Given the description of an element on the screen output the (x, y) to click on. 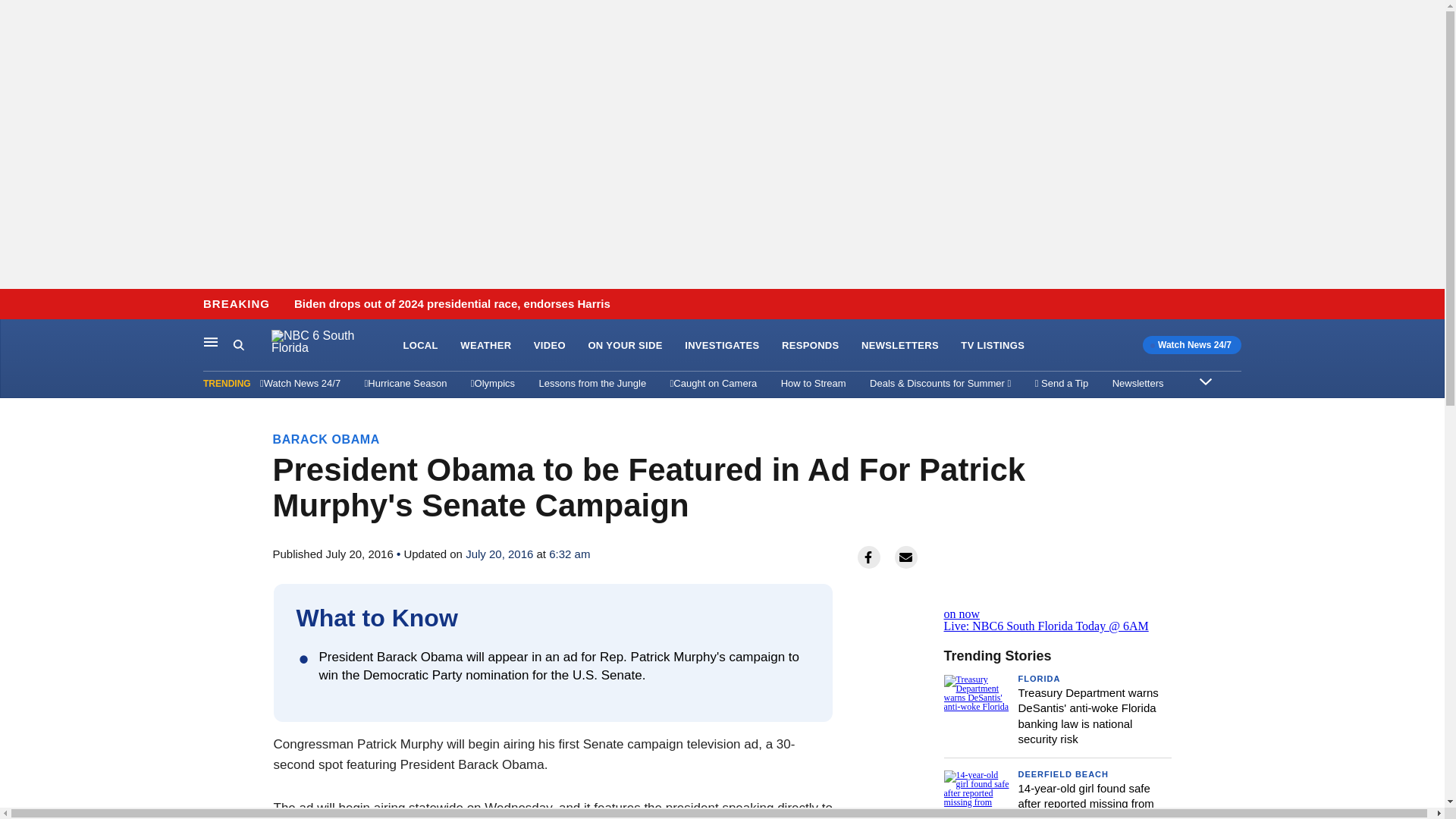
LOCAL (420, 345)
Skip to content (16, 304)
BARACK OBAMA (326, 439)
WEATHER (485, 345)
DEERFIELD BEACH (1062, 773)
Search (252, 345)
INVESTIGATES (721, 345)
Biden drops out of 2024 presidential race, endorses Harris (452, 304)
Search (238, 344)
Expand (1205, 381)
Newsletters (1137, 383)
VIDEO (550, 345)
FLORIDA (1038, 678)
Main Navigation (210, 341)
